Given the description of an element on the screen output the (x, y) to click on. 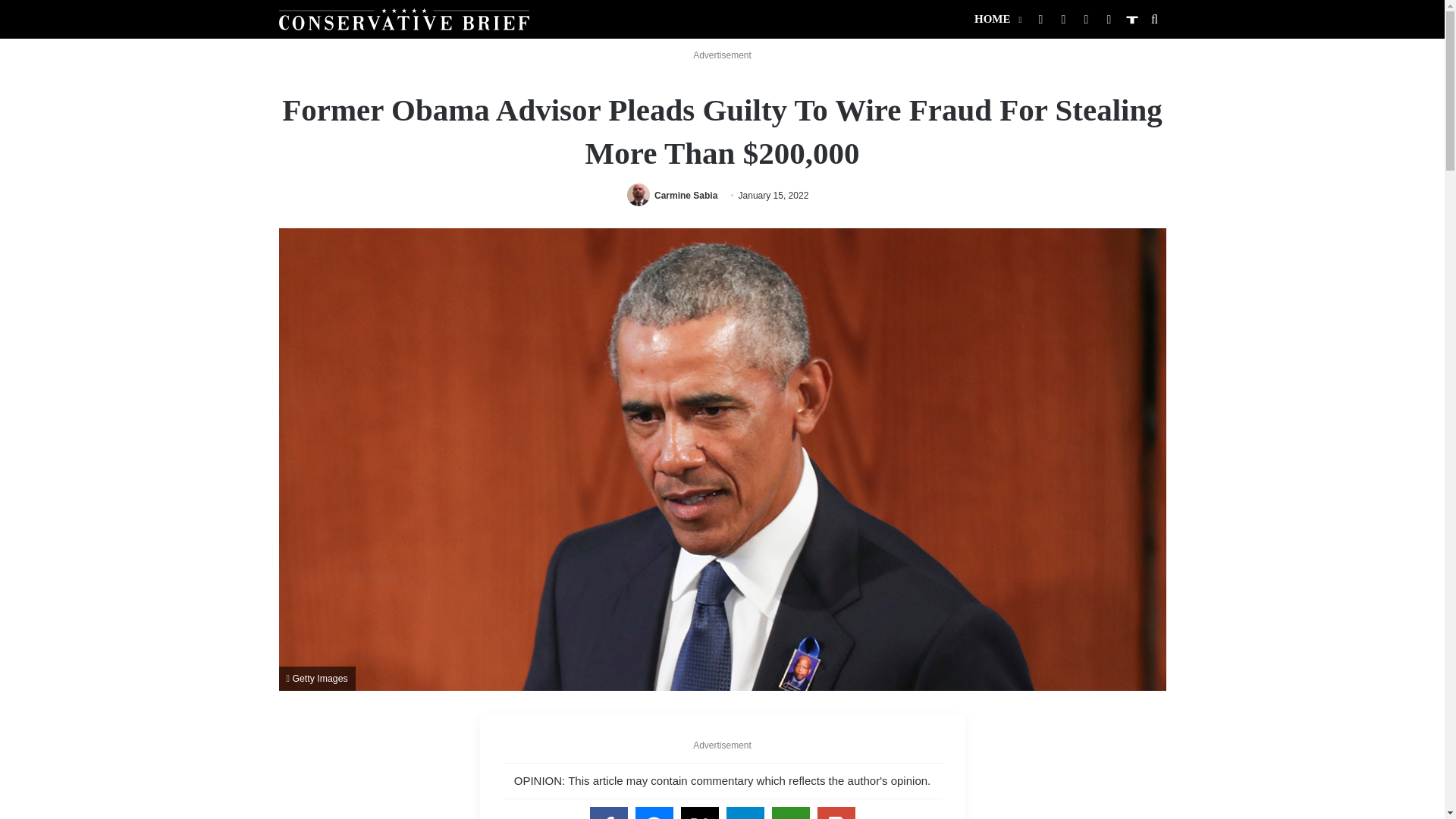
Conservative Brief (404, 19)
Carmine Sabia (685, 195)
HOME (996, 19)
Carmine Sabia (685, 195)
